Given the description of an element on the screen output the (x, y) to click on. 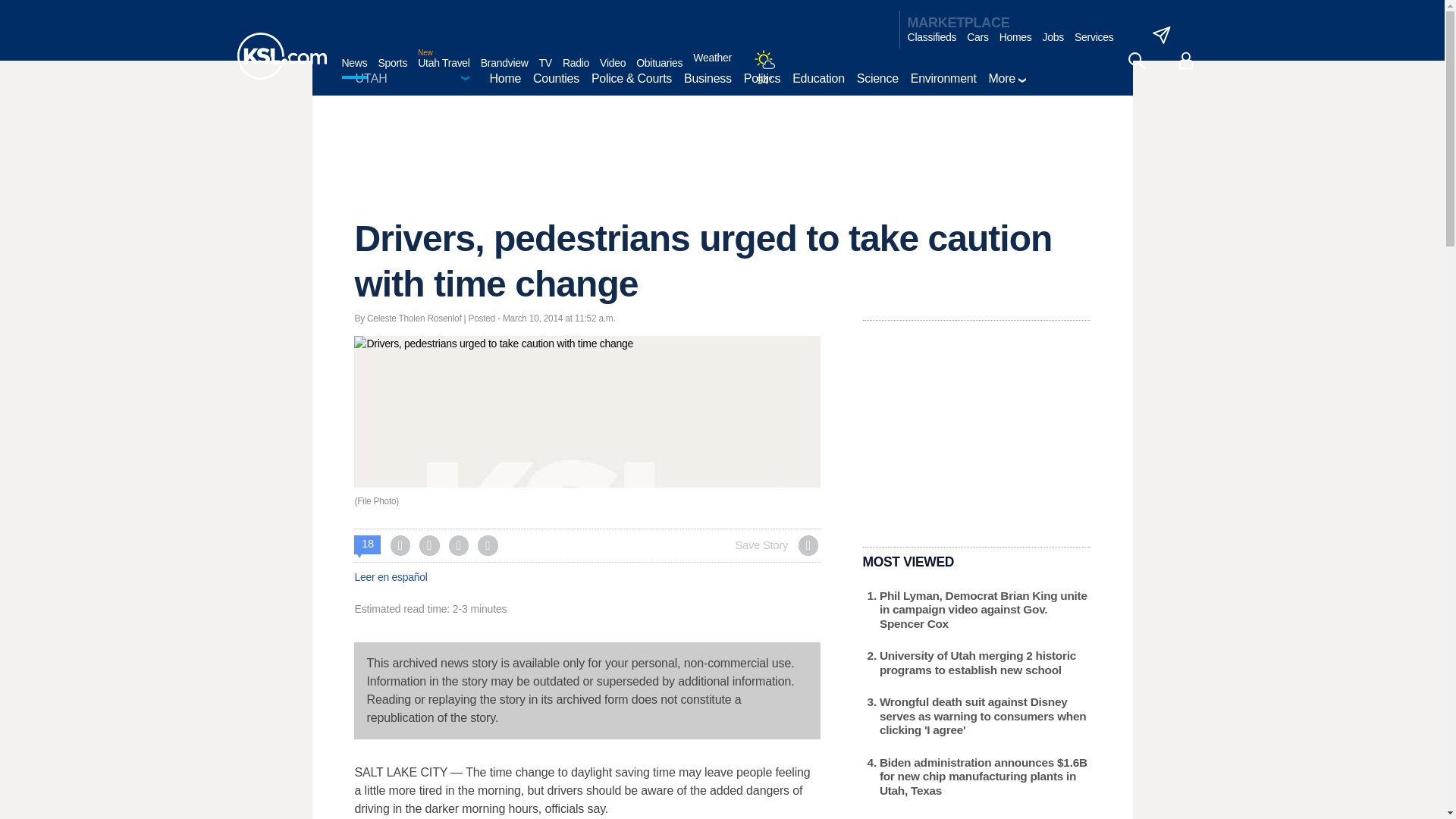
account - logged out (1185, 60)
search (1135, 60)
KSL homepage (280, 55)
